Given the description of an element on the screen output the (x, y) to click on. 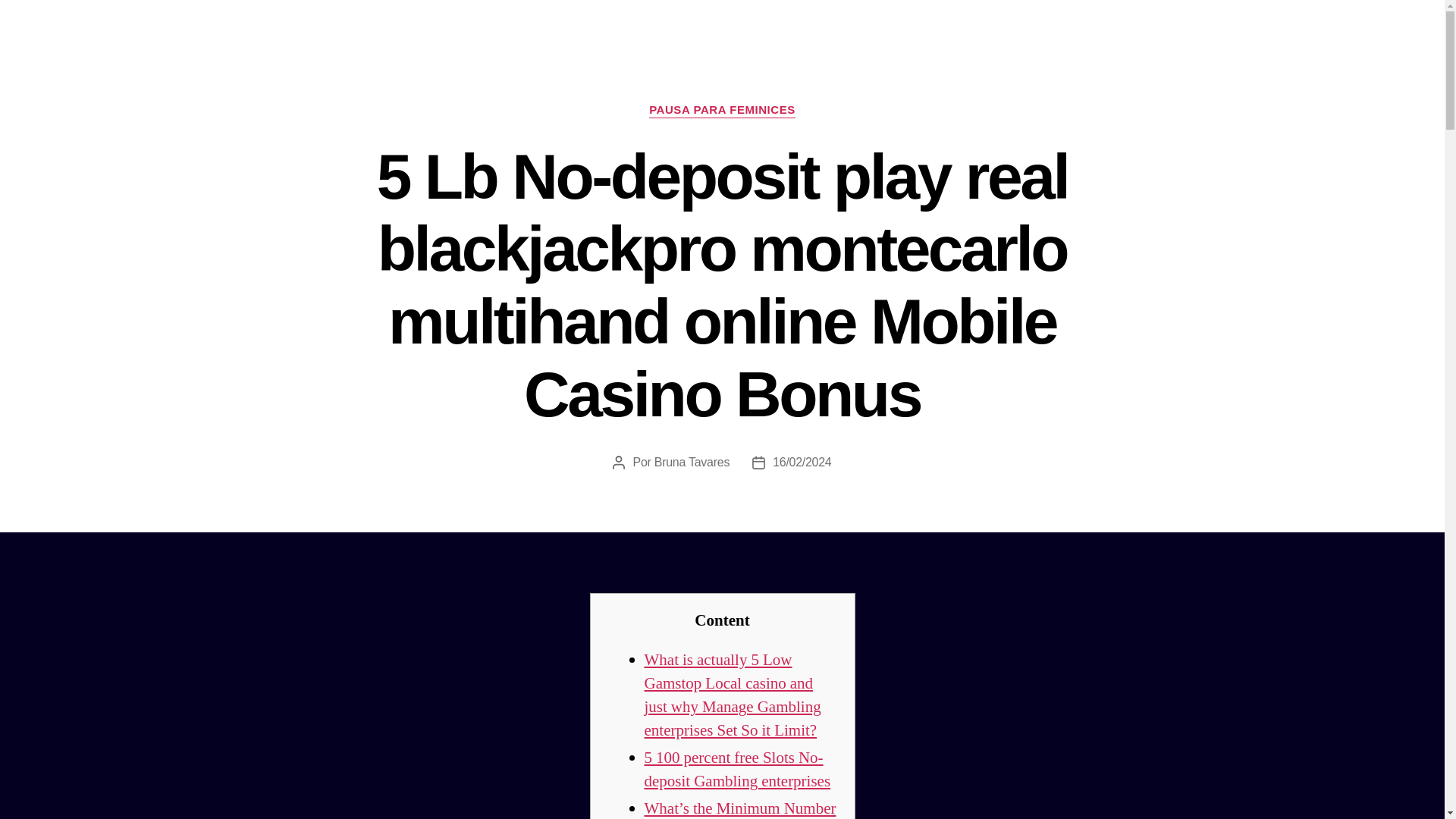
5 100 percent free Slots No-deposit Gambling enterprises (738, 769)
PAUSA PARA FEMINICES (721, 110)
Bruna Tavares (691, 461)
